Given the description of an element on the screen output the (x, y) to click on. 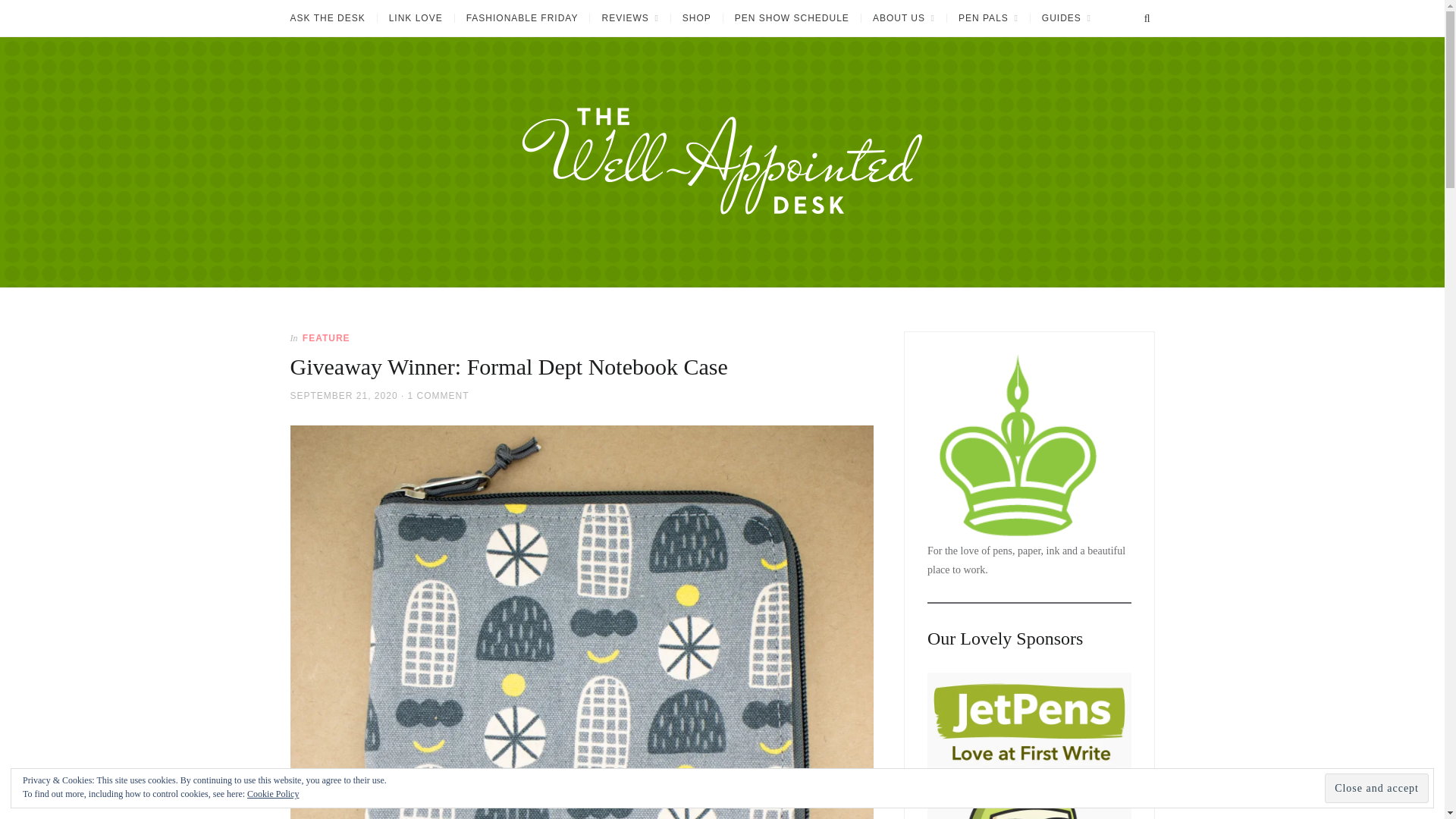
Close and accept (1376, 788)
REVIEWS (629, 17)
The Well-Appointed Desk (346, 292)
SEPTEMBER 21, 2020 (343, 394)
LINK LOVE (415, 17)
PEN SHOW SCHEDULE (791, 17)
SHOP (695, 17)
GUIDES (1065, 17)
PEN PALS (987, 17)
1 COMMENT (437, 394)
FEATURE (326, 337)
FASHIONABLE FRIDAY (521, 17)
ABOUT US (903, 17)
ASK THE DESK (332, 17)
